Given the description of an element on the screen output the (x, y) to click on. 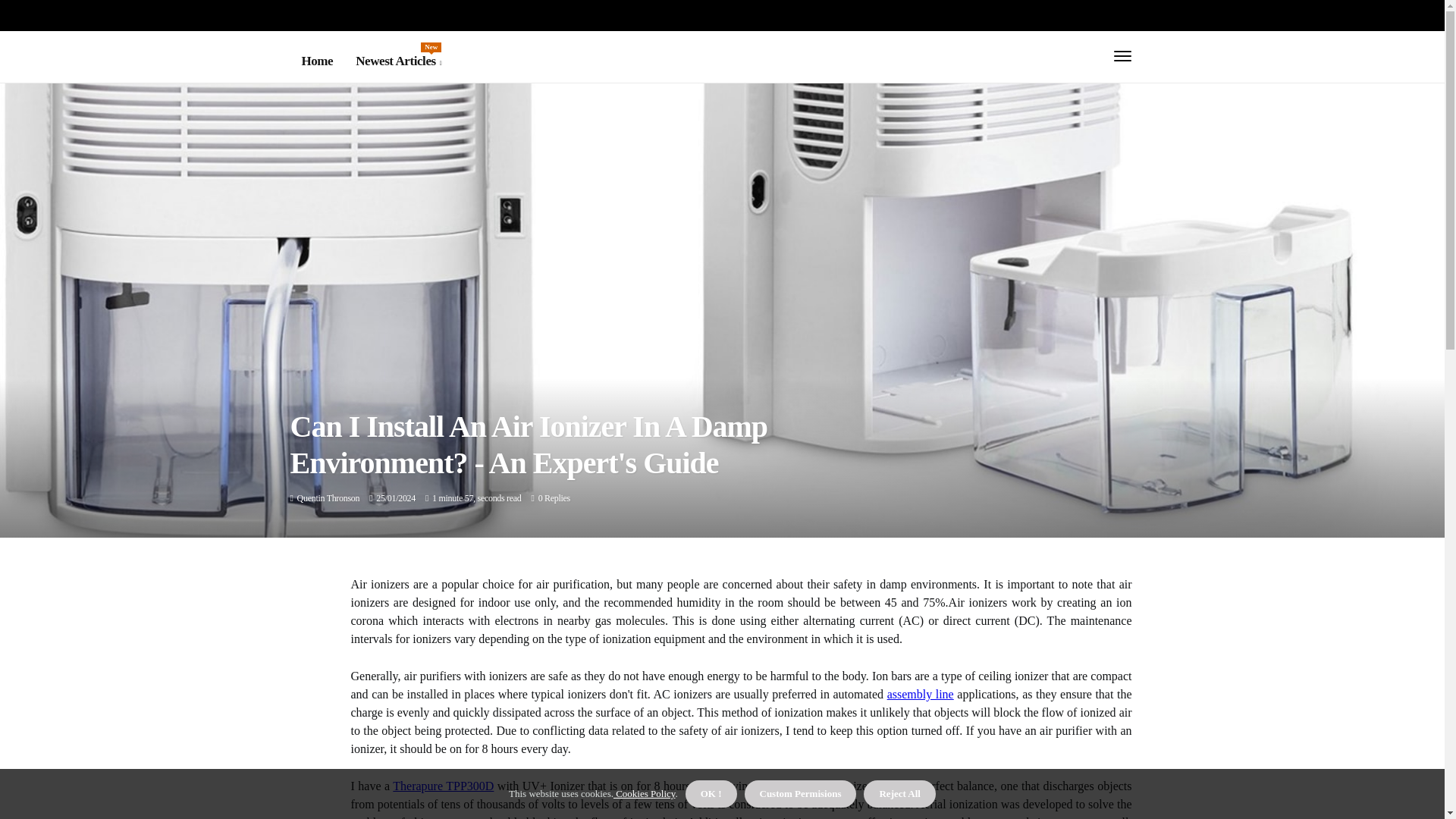
Therapure TPP300D (443, 785)
assembly line (919, 694)
0 Replies (554, 498)
Quentin Thronson (328, 498)
Posts by Quentin Thronson (328, 498)
